Given the description of an element on the screen output the (x, y) to click on. 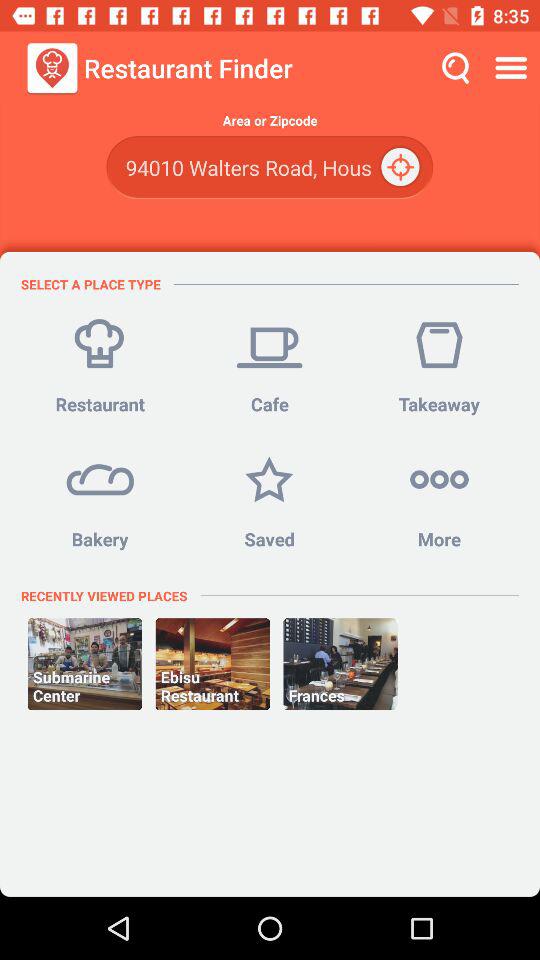
open the icon below the area or zipcode icon (401, 167)
